Given the description of an element on the screen output the (x, y) to click on. 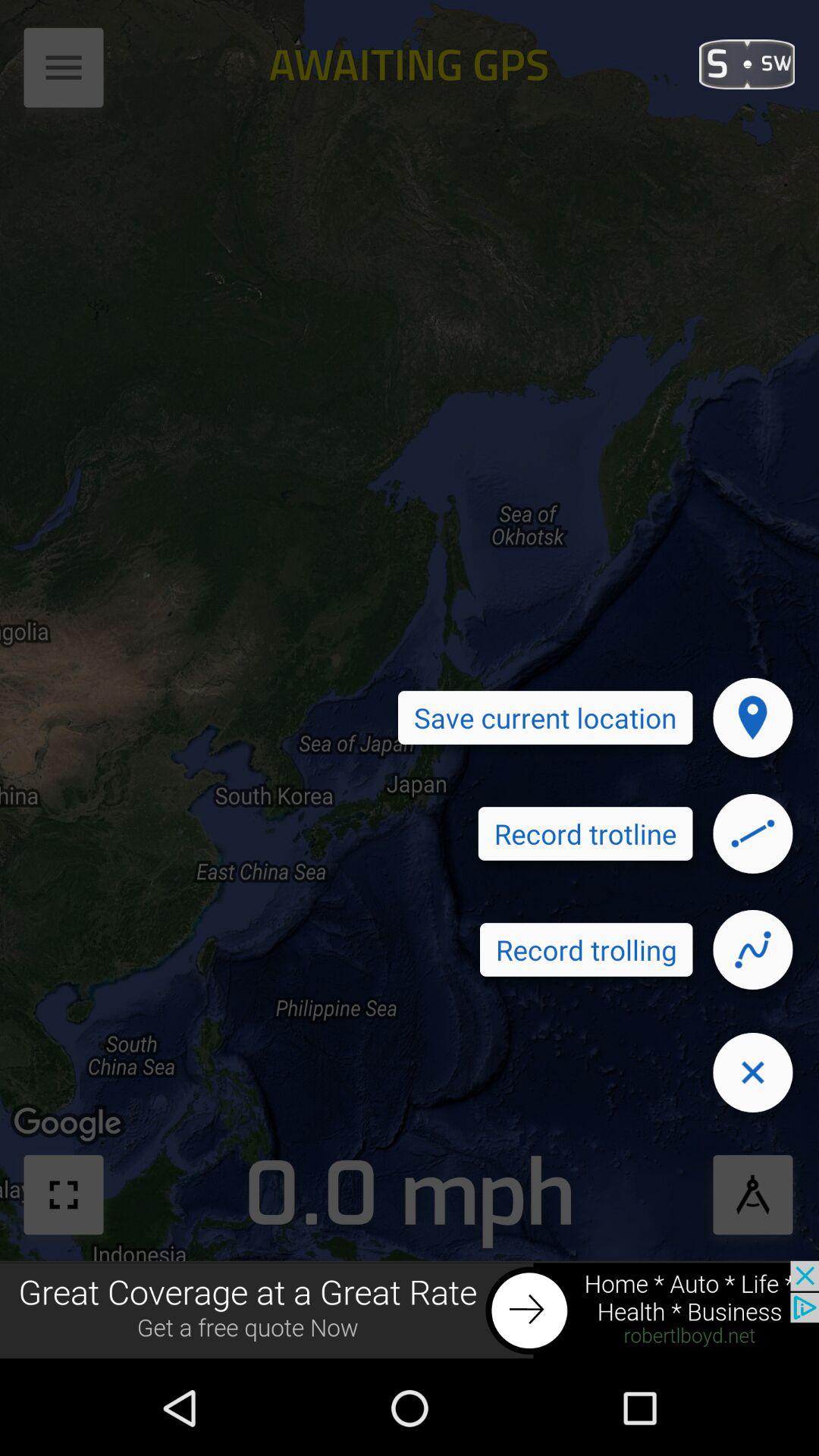
go to record trolling (752, 949)
